Given the description of an element on the screen output the (x, y) to click on. 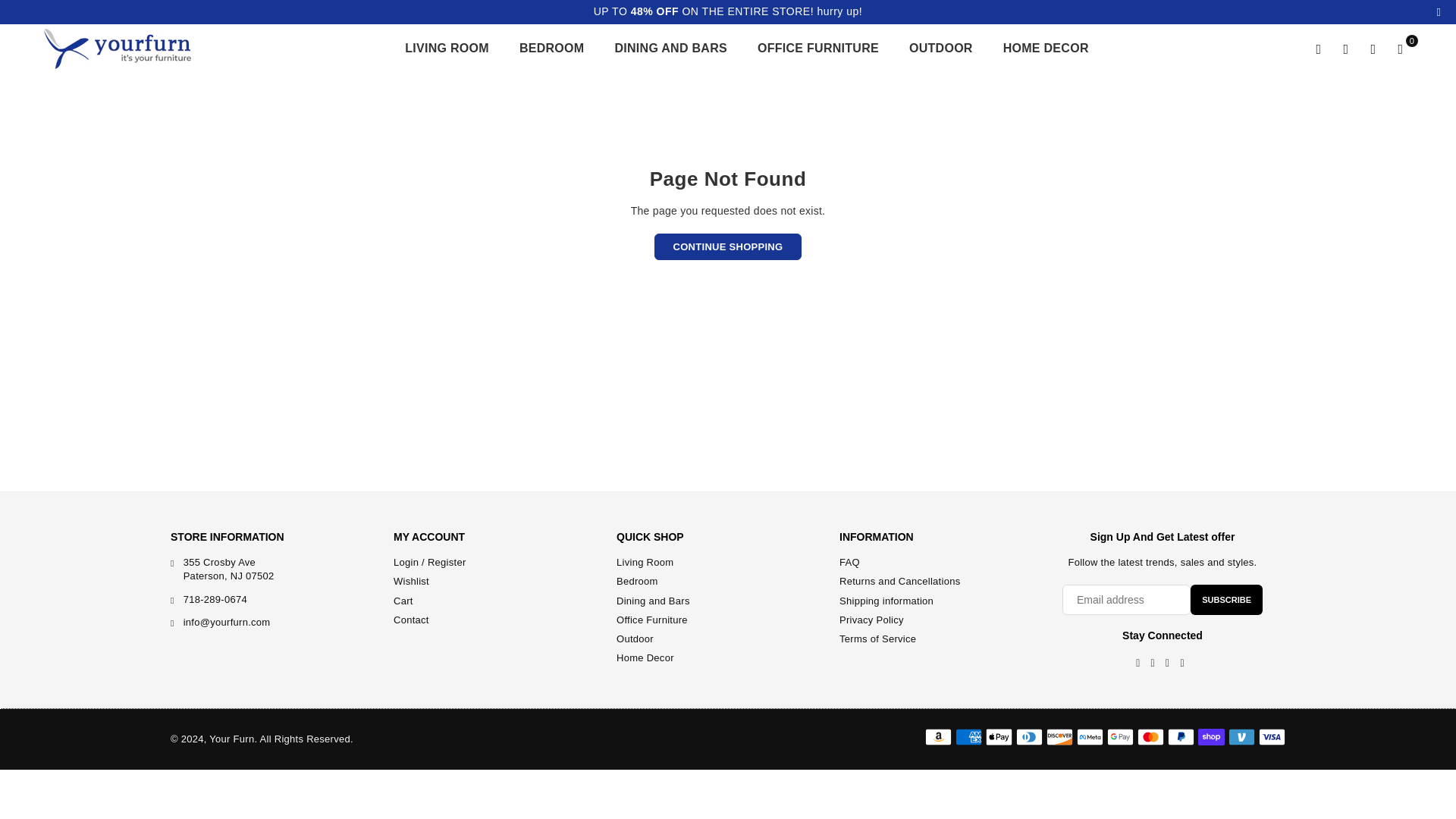
Search (1318, 48)
Wishlist (1373, 48)
Your Furn on Instagram (1167, 663)
Your Furn on YouTube (1181, 663)
Apple Pay (998, 737)
Settings (1345, 48)
Mastercard (1150, 737)
Your Furn on Pinterest (1152, 663)
YOUR FURN (128, 48)
PayPal (1180, 737)
Shop Pay (1211, 737)
Visa (1272, 737)
Discover (1059, 737)
Diners Club (1029, 737)
Amazon (938, 737)
